Given the description of an element on the screen output the (x, y) to click on. 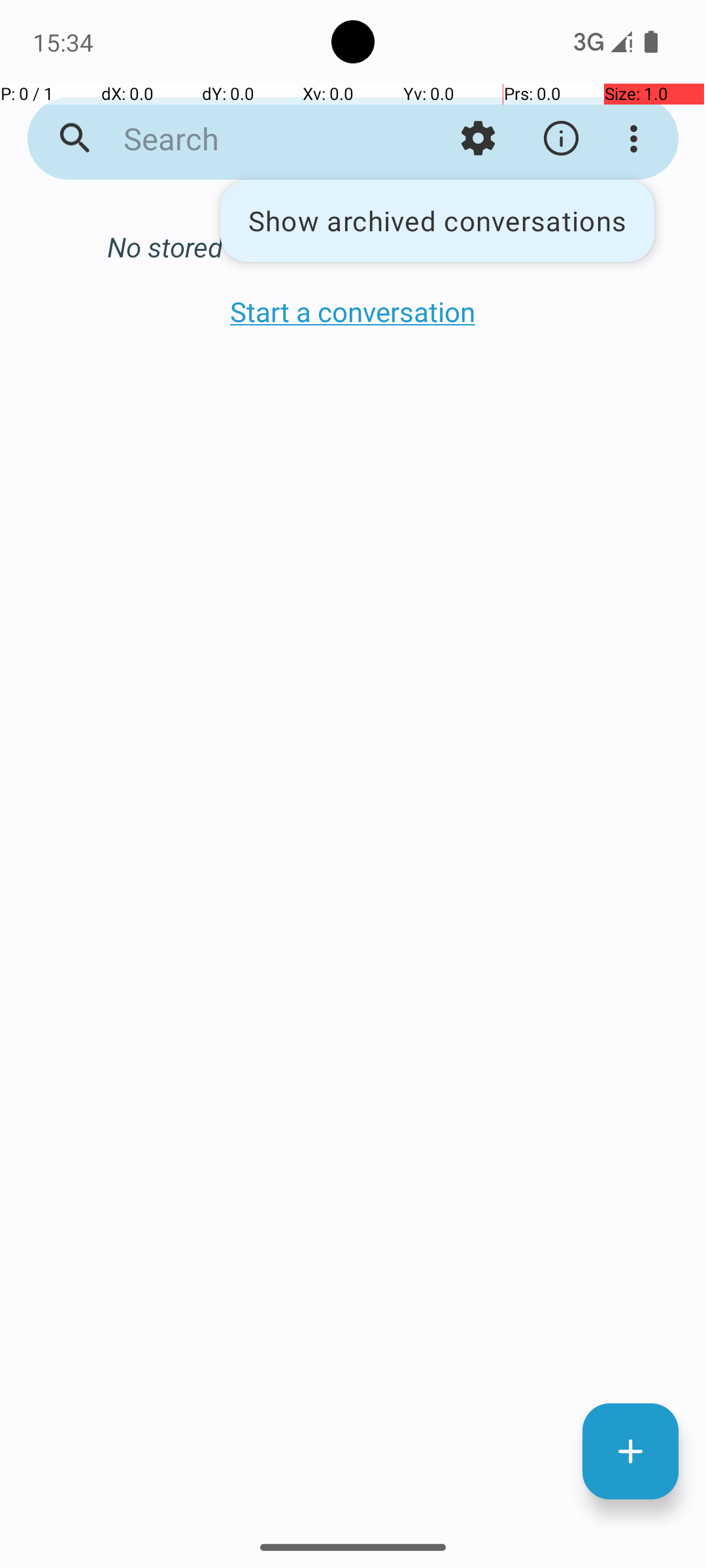
Show archived conversations Element type: android.widget.TextView (436, 220)
